Given the description of an element on the screen output the (x, y) to click on. 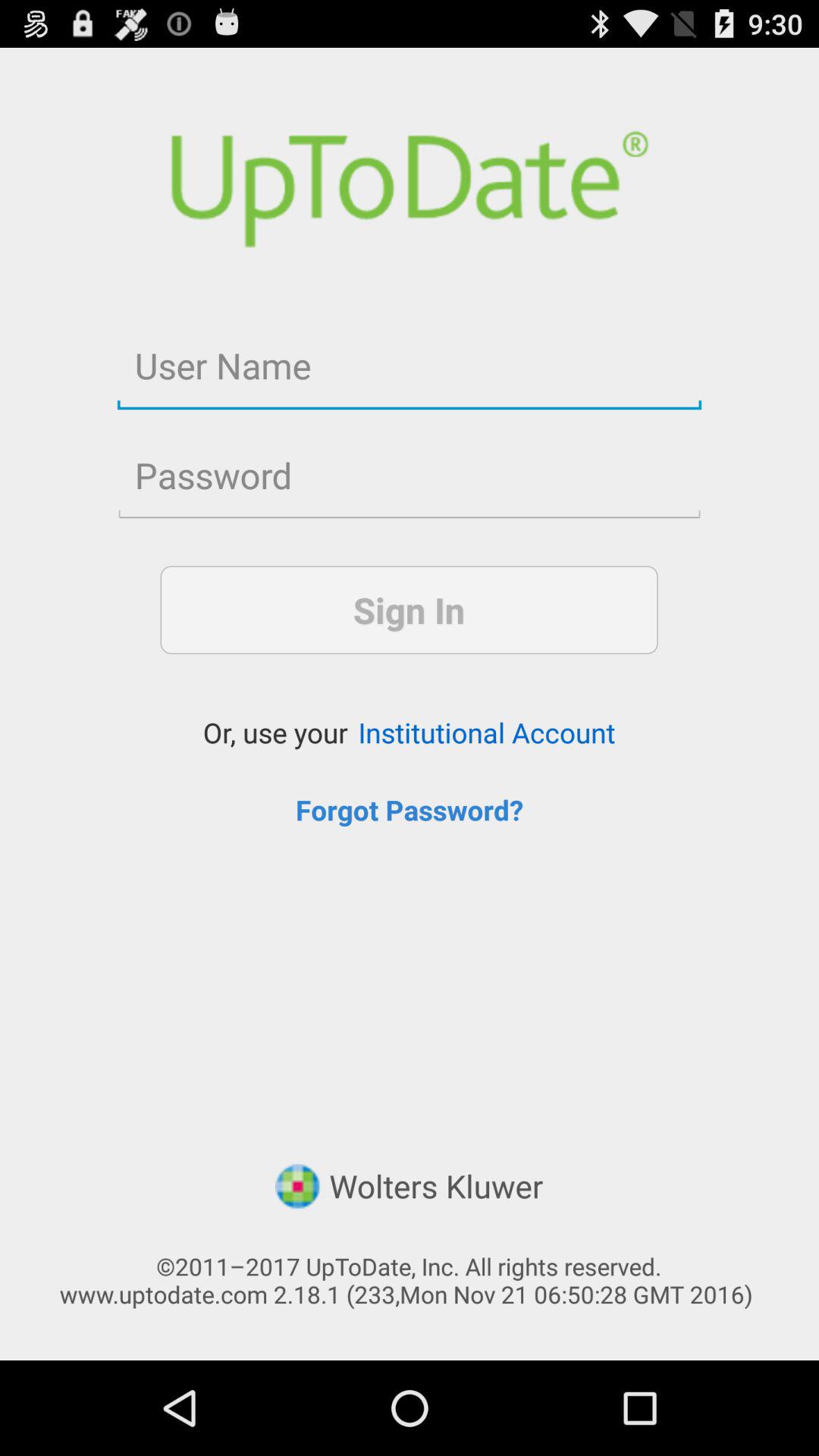
click app above the or, use your app (409, 609)
